Given the description of an element on the screen output the (x, y) to click on. 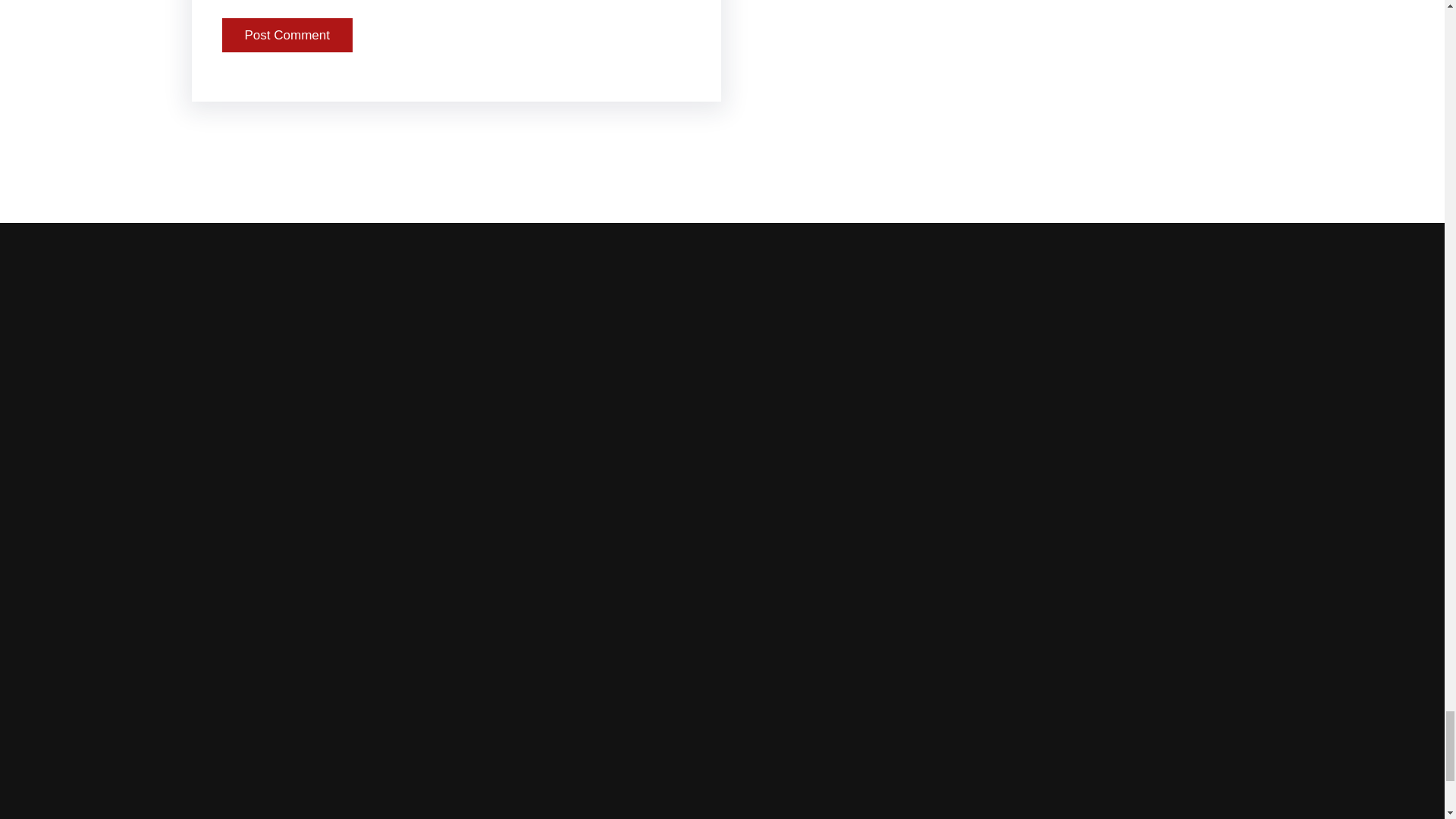
Post Comment (286, 35)
Post Comment (286, 35)
